Given the description of an element on the screen output the (x, y) to click on. 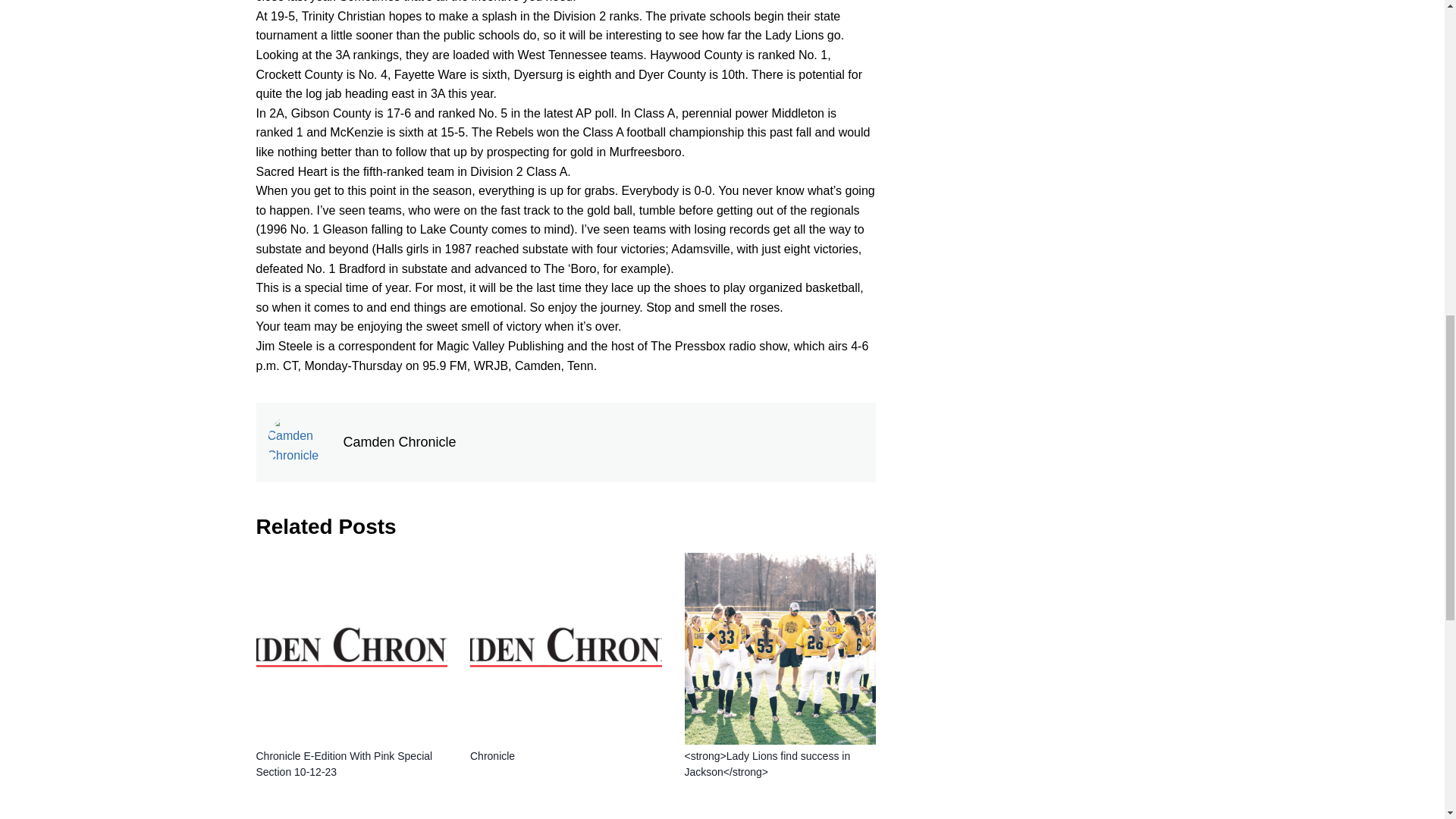
Camden Chronicle (603, 442)
